Given the description of an element on the screen output the (x, y) to click on. 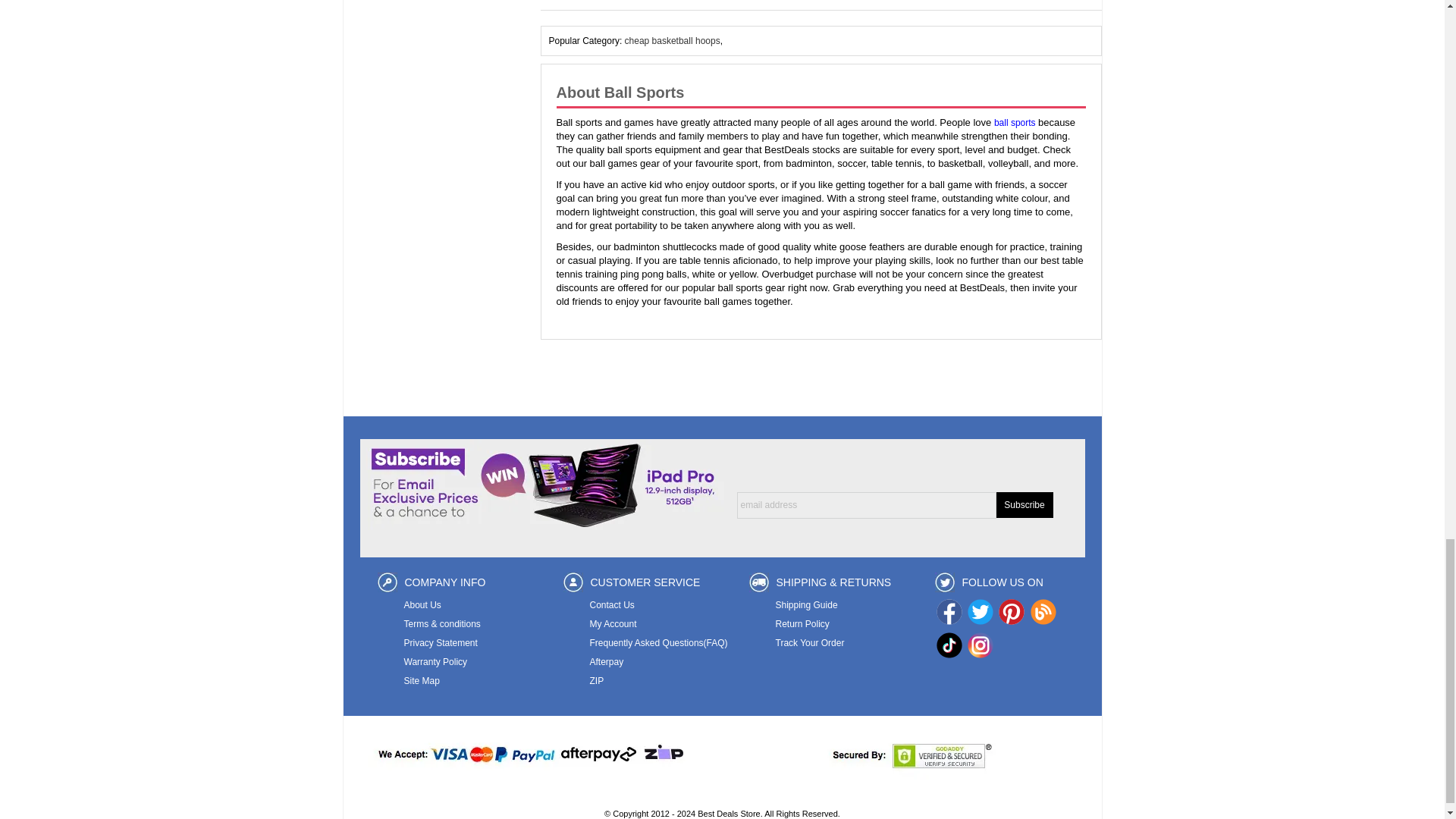
Subscribe (1023, 504)
